Given the description of an element on the screen output the (x, y) to click on. 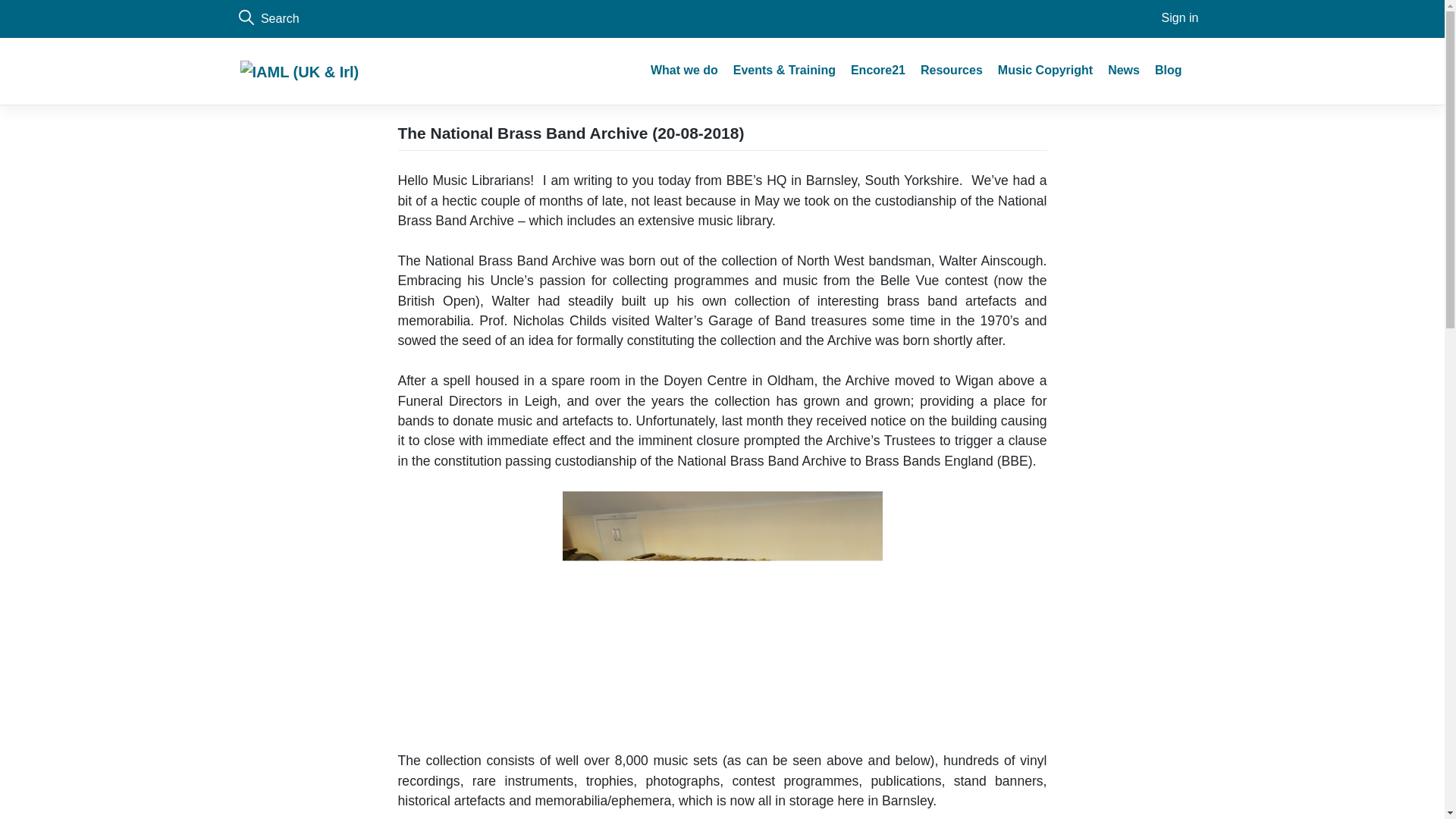
Resources (951, 70)
Search (471, 18)
Blog (1168, 70)
Music Copyright (1045, 70)
News (1123, 70)
What we do (684, 70)
Encore21 (877, 70)
Sign in (1180, 18)
